Given the description of an element on the screen output the (x, y) to click on. 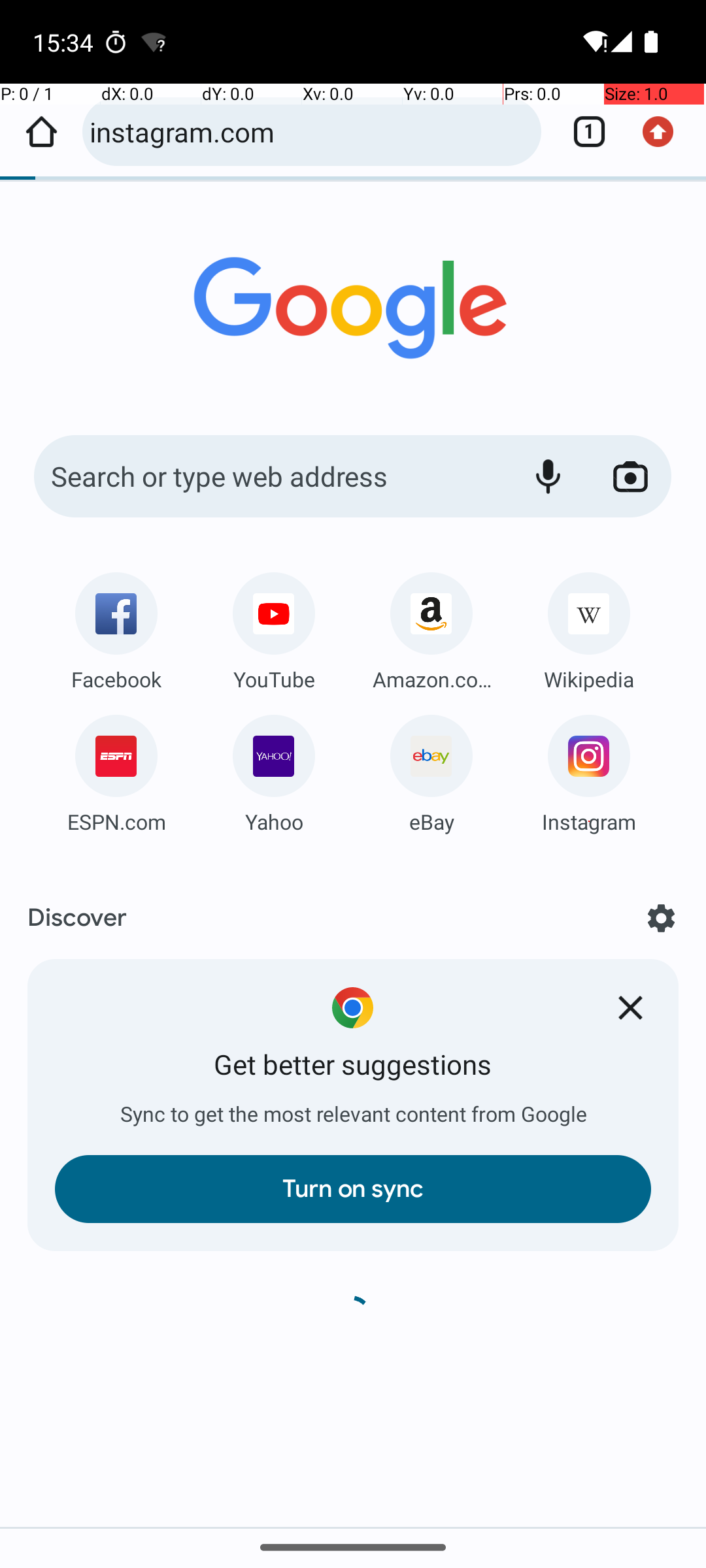
instagram.com Element type: android.widget.EditText (308, 131)
Update available. More options Element type: android.widget.ImageButton (664, 131)
Search or type web address Element type: android.widget.EditText (267, 476)
Start voice search Element type: android.widget.ImageView (547, 476)
Search with your camera using Google Lens Element type: android.widget.ImageView (629, 476)
Navigate: Facebook: m.facebook.com Element type: android.widget.FrameLayout (115, 626)
Navigate: YouTube: m.youtube.com Element type: android.widget.FrameLayout (273, 626)
Navigate: Amazon.com: www.amazon.com Element type: android.widget.FrameLayout (431, 626)
Navigate: Wikipedia: en.m.wikipedia.org Element type: android.widget.FrameLayout (588, 626)
Navigate: ESPN.com: www.espn.com Element type: android.widget.FrameLayout (115, 768)
Navigate: Yahoo: www.yahoo.com Element type: android.widget.FrameLayout (273, 768)
Navigate: eBay: m.ebay.com Element type: android.widget.FrameLayout (431, 768)
Navigate: Instagram: www.instagram.com Element type: android.widget.FrameLayout (588, 768)
Options for Discover Element type: android.widget.ImageButton (660, 917)
Get better suggestions Element type: android.widget.TextView (352, 1065)
Sync to get the most relevant content from Google Element type: android.widget.TextView (352, 1114)
Turn on sync Element type: android.widget.Button (352, 1188)
Facebook Element type: android.widget.TextView (115, 679)
Amazon.com Element type: android.widget.TextView (430, 679)
ESPN.com Element type: android.widget.TextView (115, 821)
Yahoo Element type: android.widget.TextView (273, 821)
eBay Element type: android.widget.TextView (430, 821)
Instagram Element type: android.widget.TextView (588, 821)
